Given the description of an element on the screen output the (x, y) to click on. 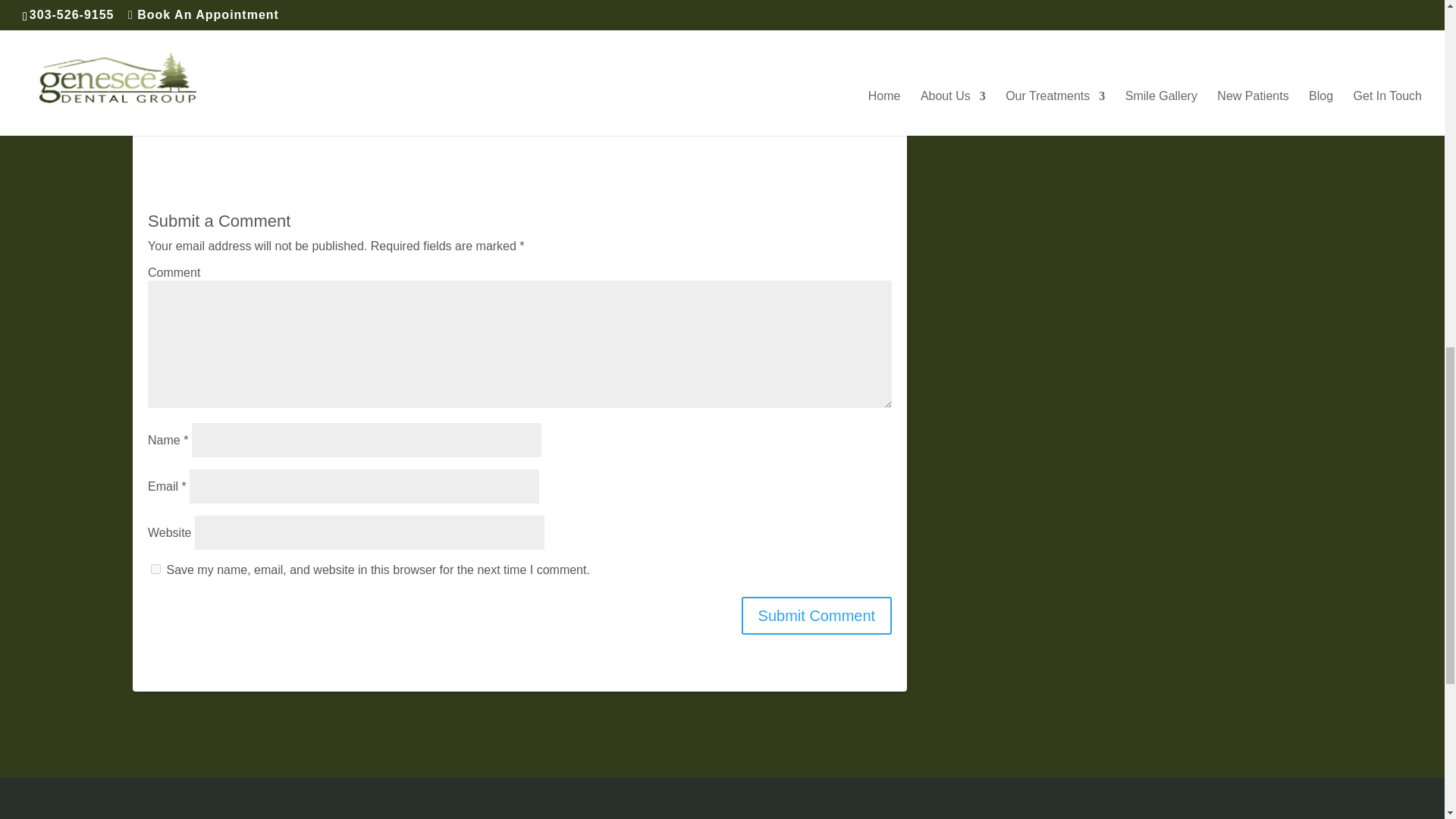
yes (155, 569)
Submit Comment (816, 615)
Submit Comment (816, 615)
